Given the description of an element on the screen output the (x, y) to click on. 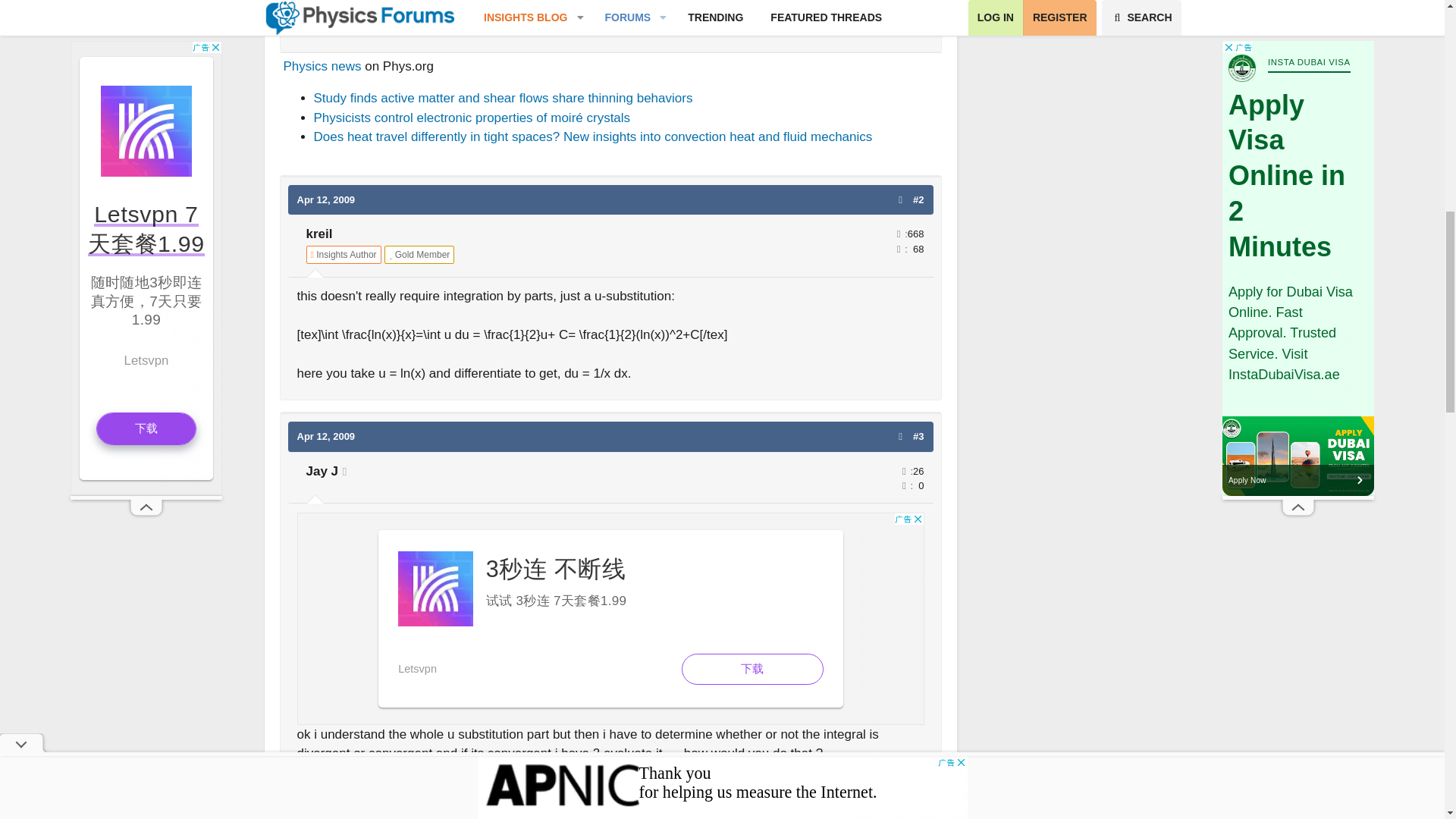
Apr 12, 2009 at 7:58 PM (326, 436)
Advertisement (610, 618)
Apr 12, 2009 at 7:52 PM (326, 199)
